Given the description of an element on the screen output the (x, y) to click on. 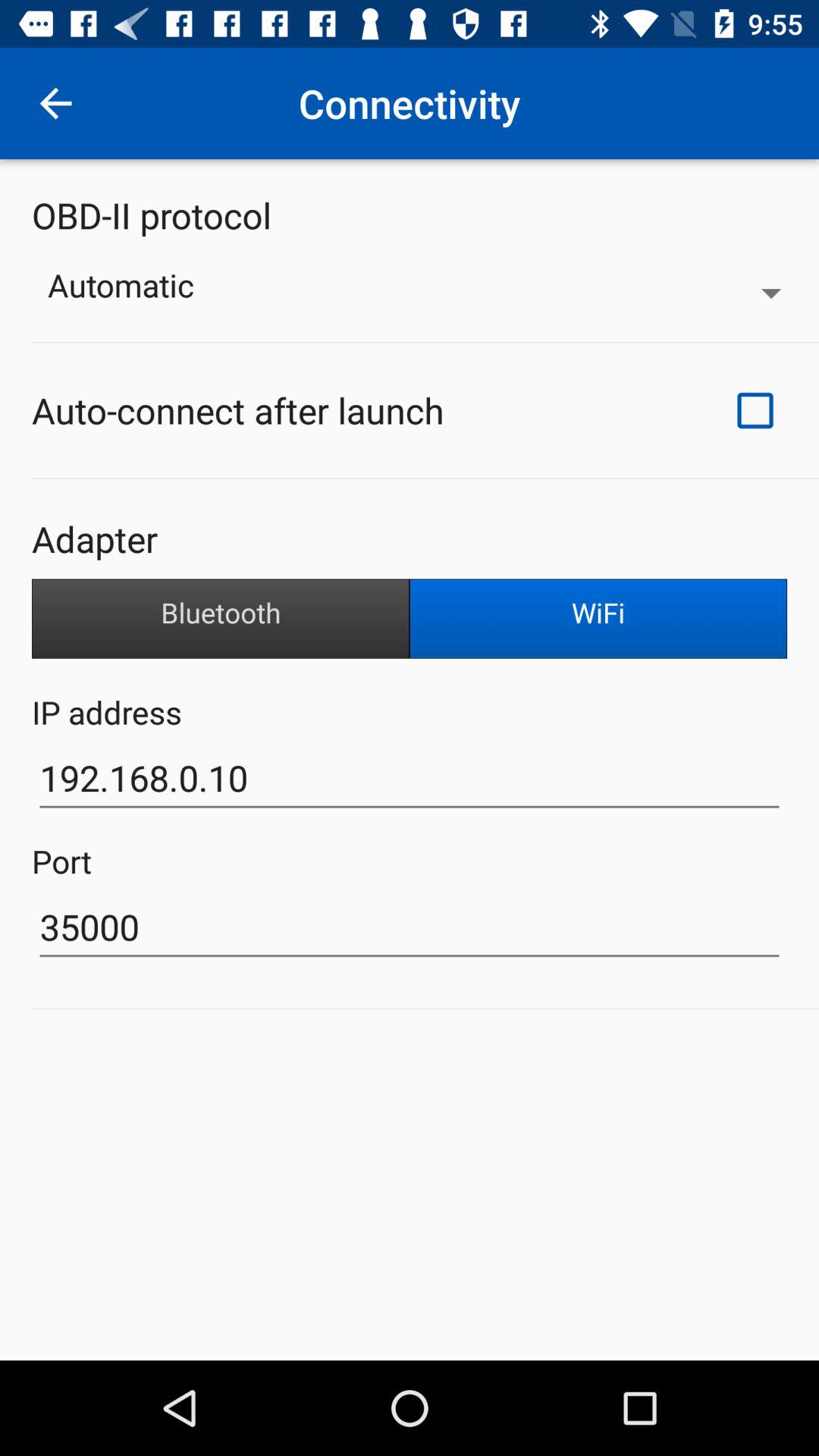
open icon to the right of the auto connect after (755, 410)
